Given the description of an element on the screen output the (x, y) to click on. 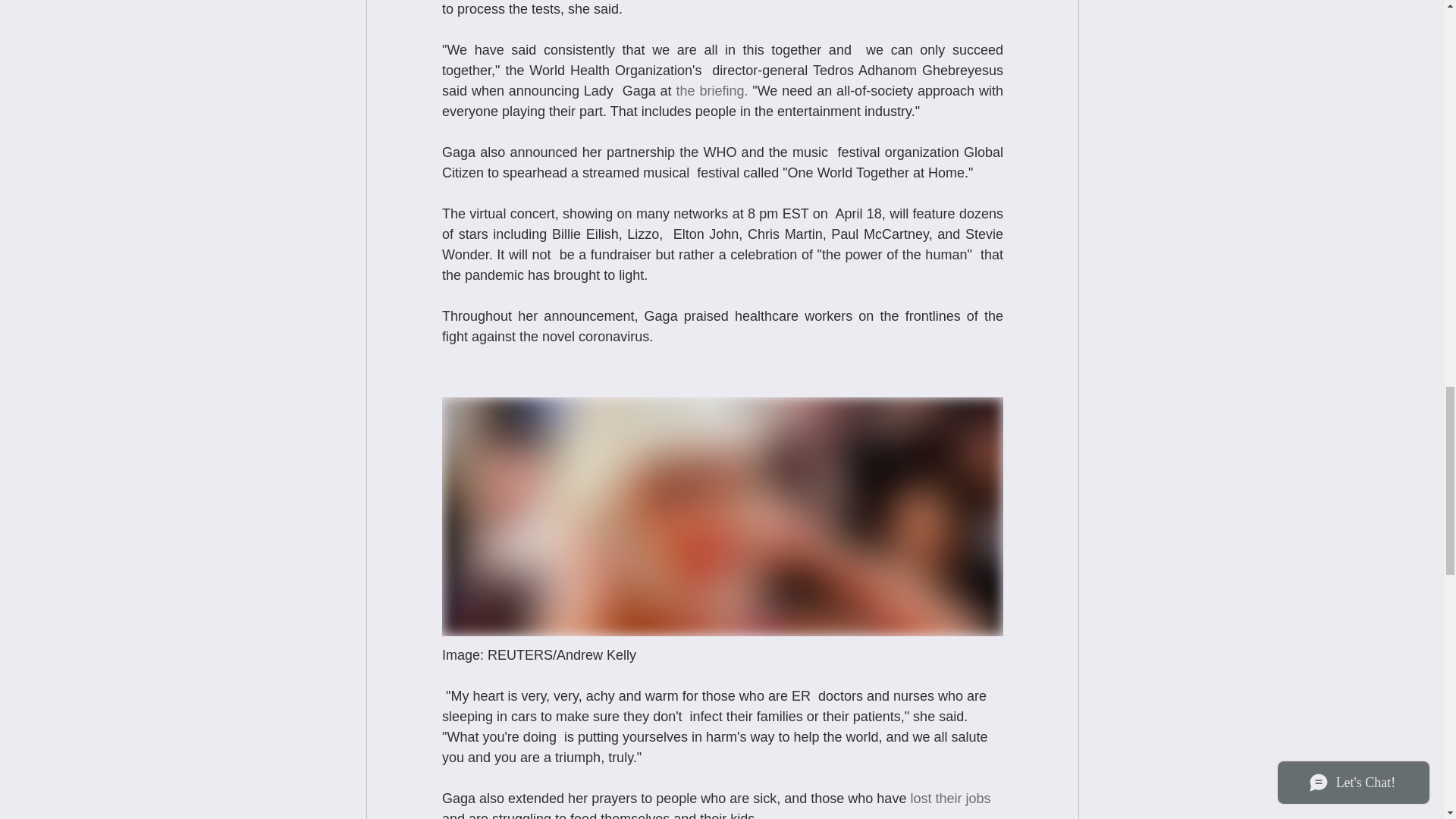
lost their jobs (950, 798)
the briefing. (711, 90)
